Given the description of an element on the screen output the (x, y) to click on. 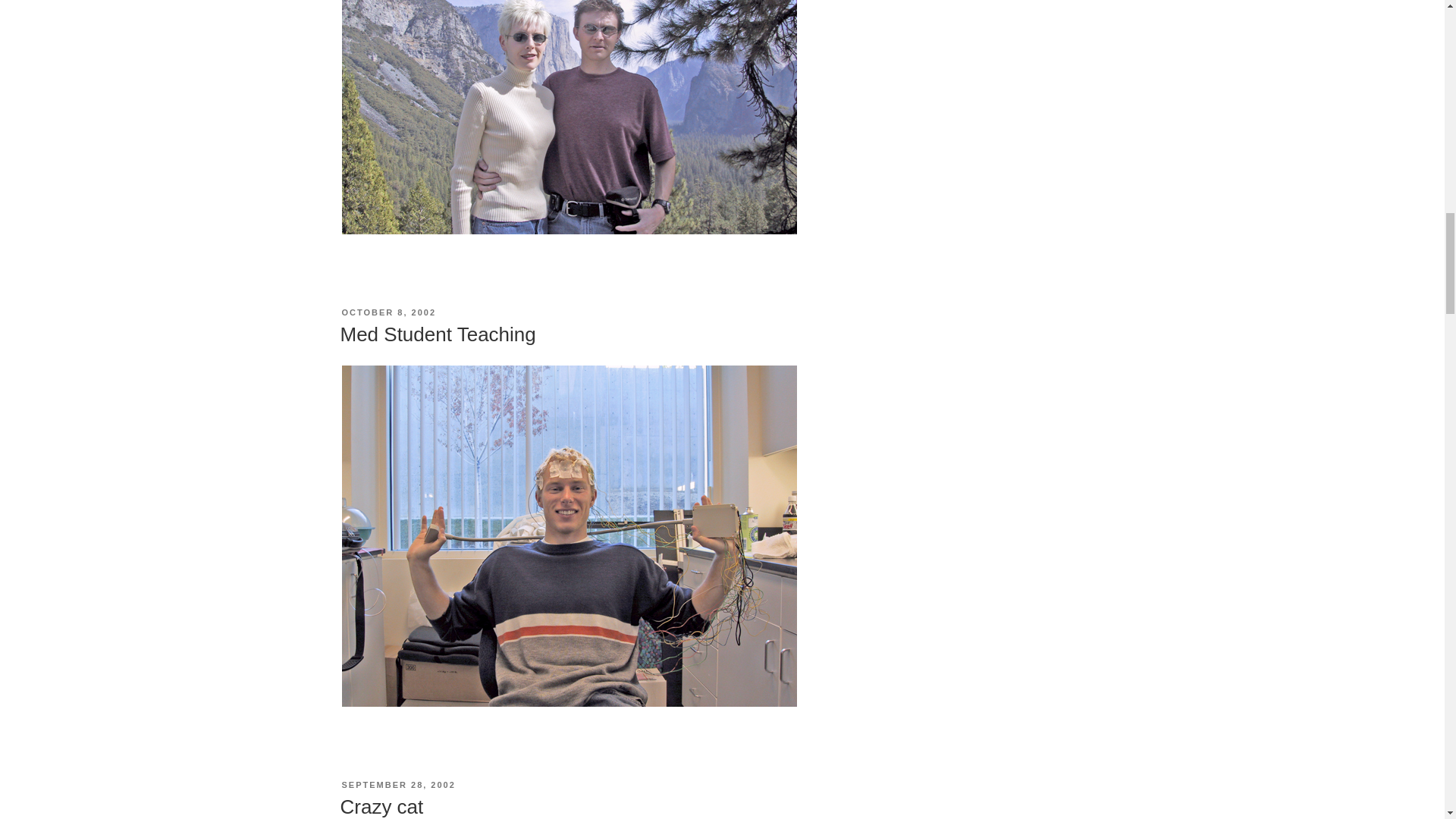
Med Student Teaching (437, 333)
OCTOBER 8, 2002 (387, 311)
SEPTEMBER 28, 2002 (397, 784)
Crazy cat (381, 806)
